Given the description of an element on the screen output the (x, y) to click on. 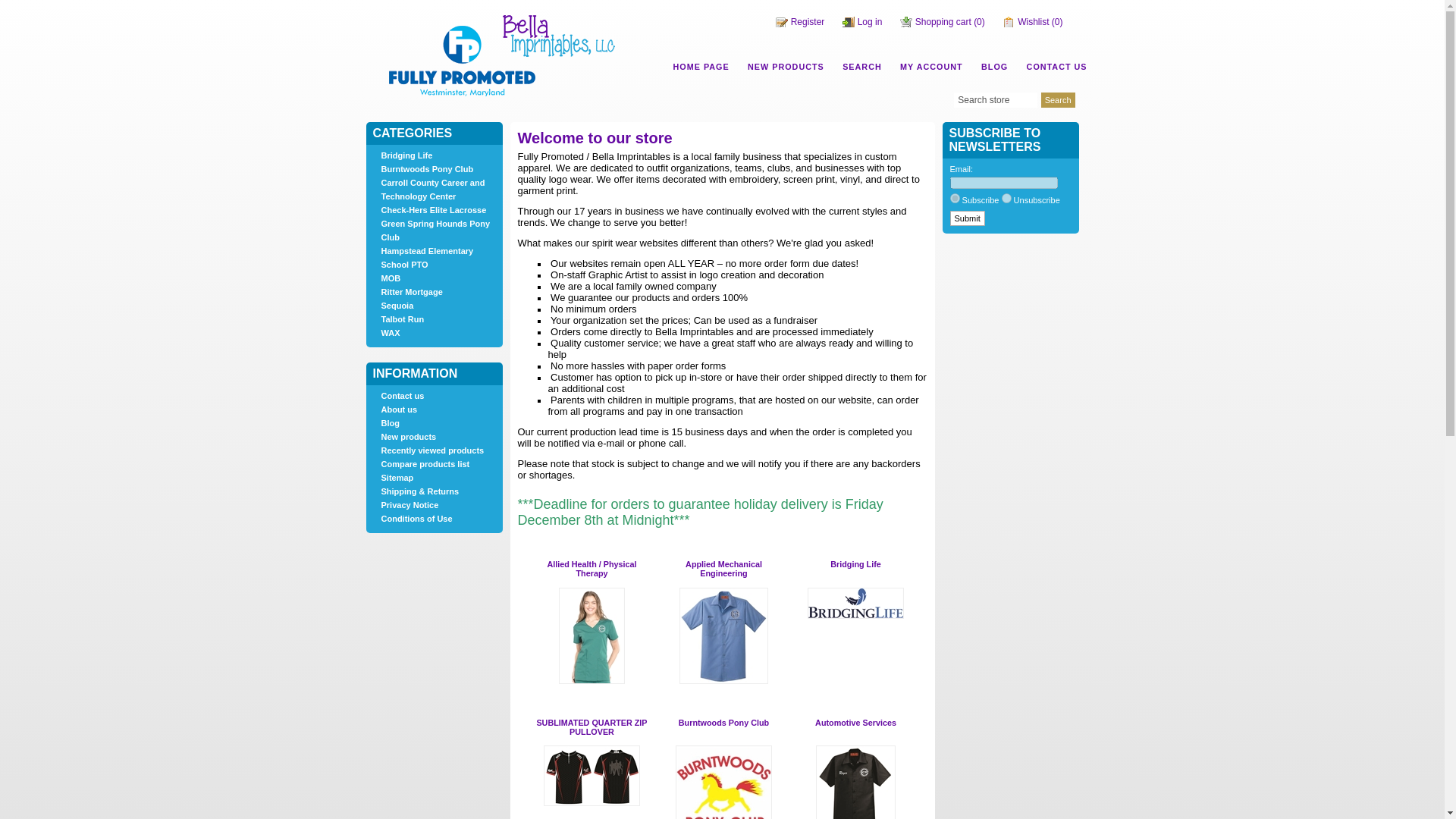
Talbot Run (401, 318)
Show products in category Burntwoods Pony Club (723, 722)
Show products in category Applied Mechanical Engineering (723, 680)
Show products in category Bridging Life (856, 603)
Sequoia (396, 305)
Bridging Life (406, 154)
Bridging Life (854, 563)
Search store (994, 99)
Show products in category Automotive Services (855, 722)
MOB (390, 277)
Burntwoods Pony Club (426, 168)
SEARCH (861, 66)
NEW PRODUCTS (785, 66)
BLOG (994, 66)
Show products in category SUBLIMATED QUARTER ZIP PULLOVER (590, 727)
